Given the description of an element on the screen output the (x, y) to click on. 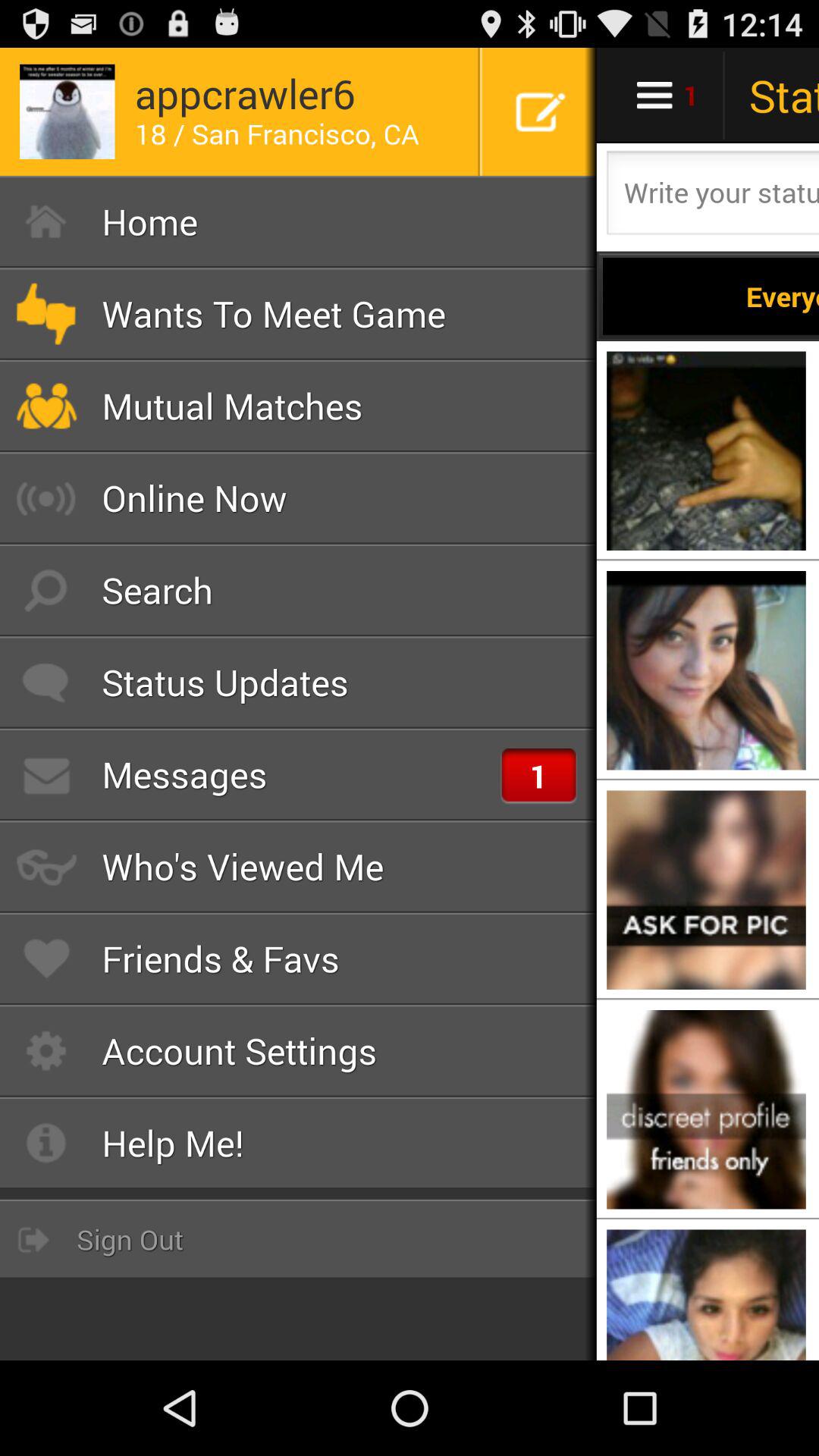
click the item next to the home button (710, 295)
